Given the description of an element on the screen output the (x, y) to click on. 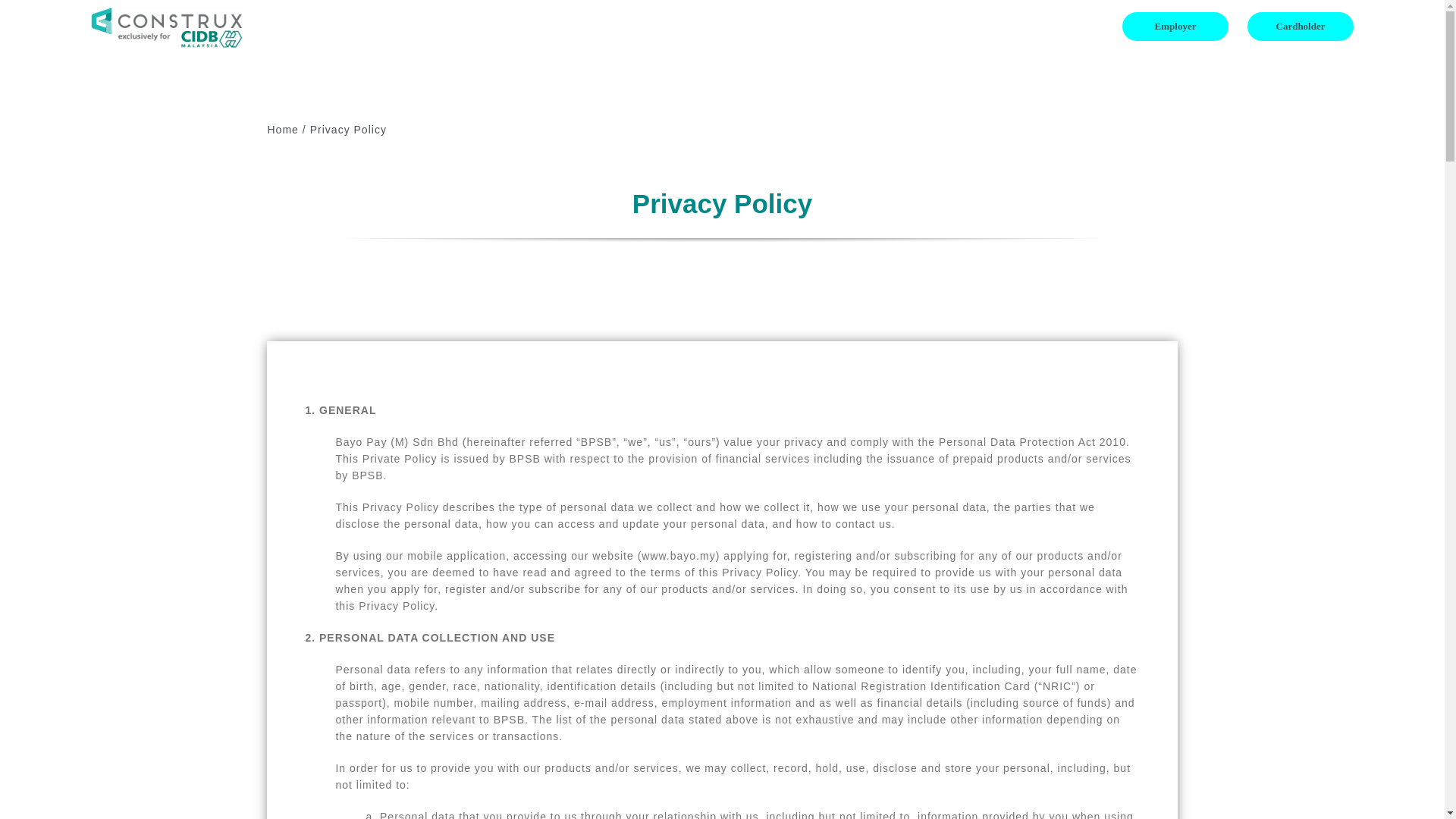
Employer (1175, 26)
FAQ (964, 26)
ENG (1056, 26)
Press (1012, 26)
Cardholder (1300, 26)
BM (1095, 26)
Products (902, 26)
Overview (835, 26)
